Given the description of an element on the screen output the (x, y) to click on. 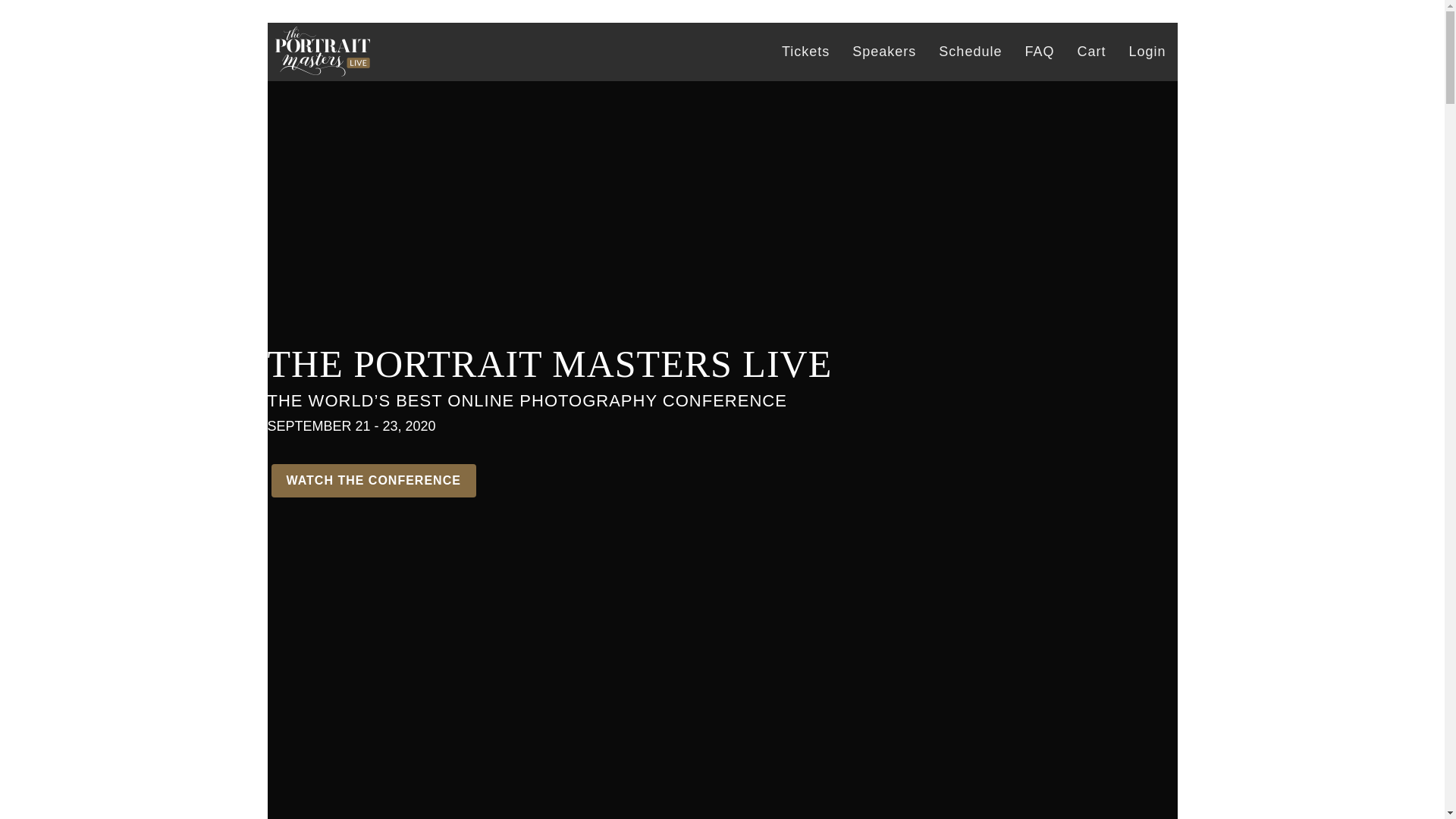
Login (1146, 51)
Schedule (970, 51)
THE PORTRAIT MASTERS LIVE (322, 51)
WATCH THE CONFERENCE (373, 480)
Speakers (884, 51)
FAQ (1039, 51)
Tickets (805, 51)
